Given the description of an element on the screen output the (x, y) to click on. 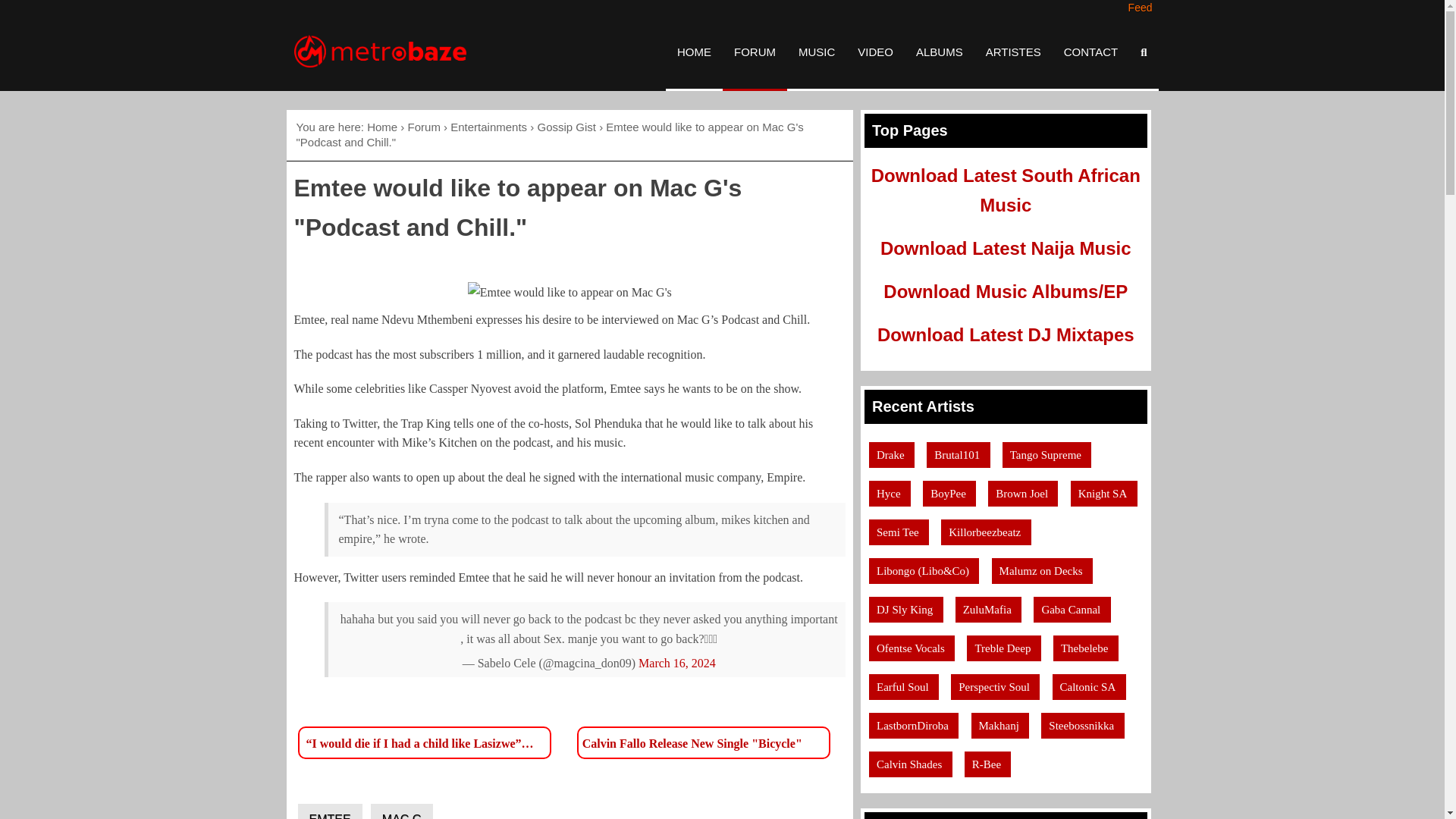
ALBUMS (939, 51)
CONTACT (1090, 51)
Entertainments (488, 126)
March 16, 2024 (677, 662)
MAC G (401, 811)
Forum (424, 126)
Home (381, 126)
Calvin Fallo Release New Single "Bicycle" (693, 741)
Feed (1139, 7)
Download Latest Naija Music (1005, 248)
